Given the description of an element on the screen output the (x, y) to click on. 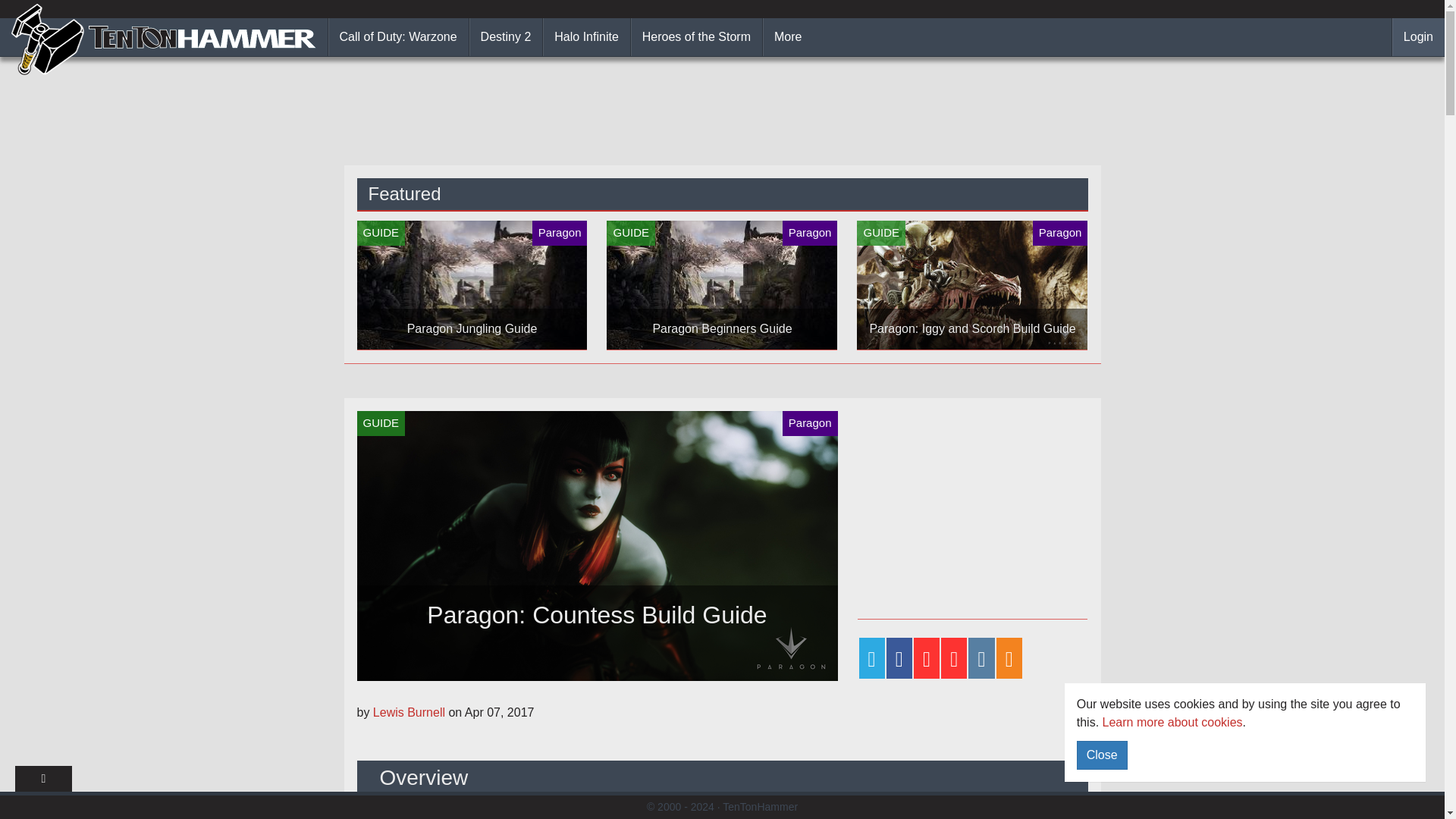
More (787, 37)
Learn more about cookies (1172, 721)
3rd party ad content (970, 505)
Halo Infinite (586, 37)
Call of Duty: Warzone (398, 37)
Paragon Beginners Guide (722, 285)
Paragon: Countess Build Guide (596, 545)
Lewis Burnell (410, 712)
Destiny 2 (505, 37)
Paragon Jungling Guide (471, 285)
